Given the description of an element on the screen output the (x, y) to click on. 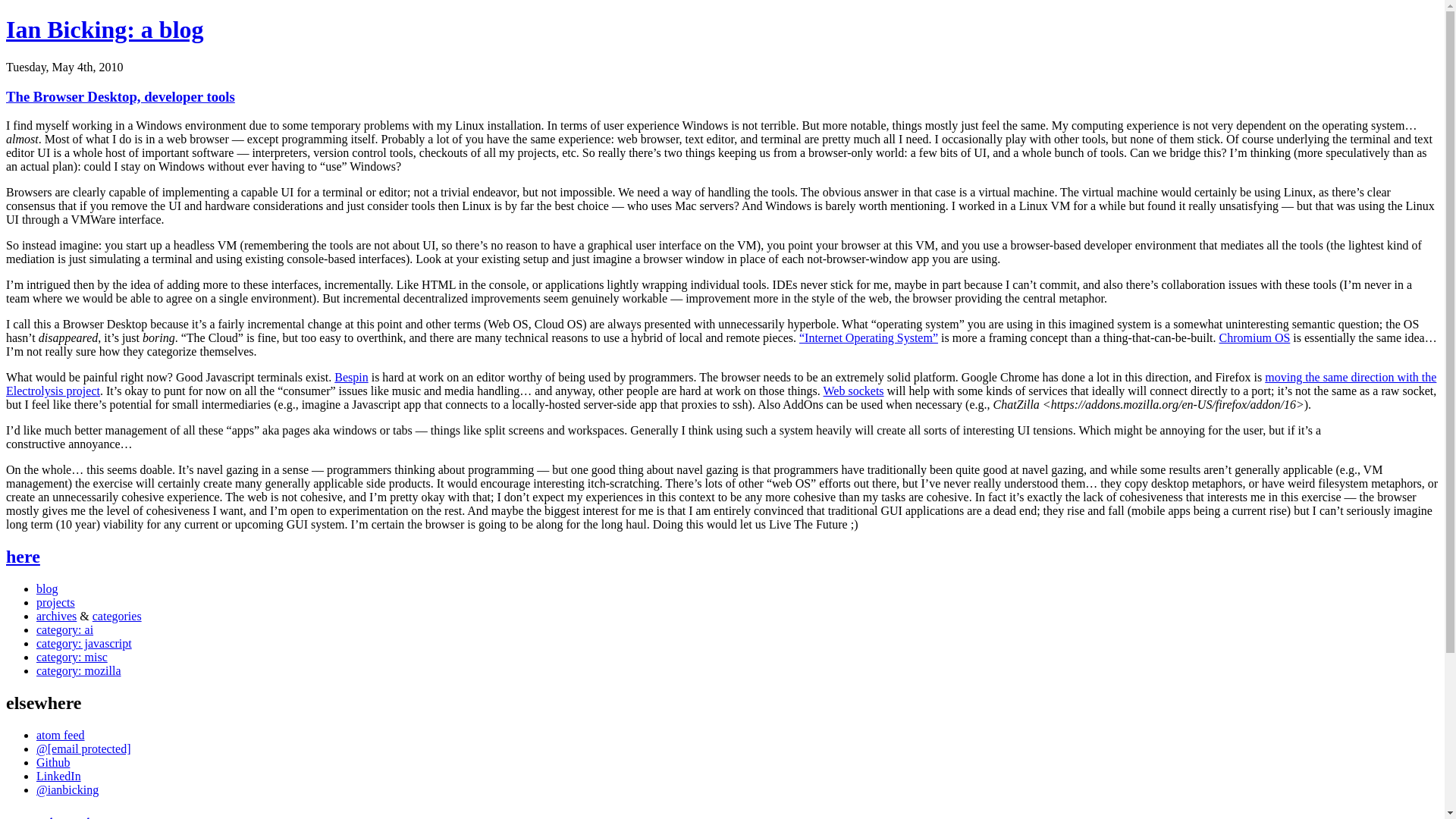
archives (56, 615)
Github (52, 762)
Bespin (351, 377)
The Browser Desktop, developer tools (119, 96)
Web sockets (853, 390)
projects (55, 602)
Ian Bicking: a blog (104, 29)
category: misc (71, 656)
category: mozilla (78, 670)
here (22, 556)
category: javascript (84, 643)
LinkedIn (58, 775)
blog (47, 588)
atom feed (60, 735)
